Given the description of an element on the screen output the (x, y) to click on. 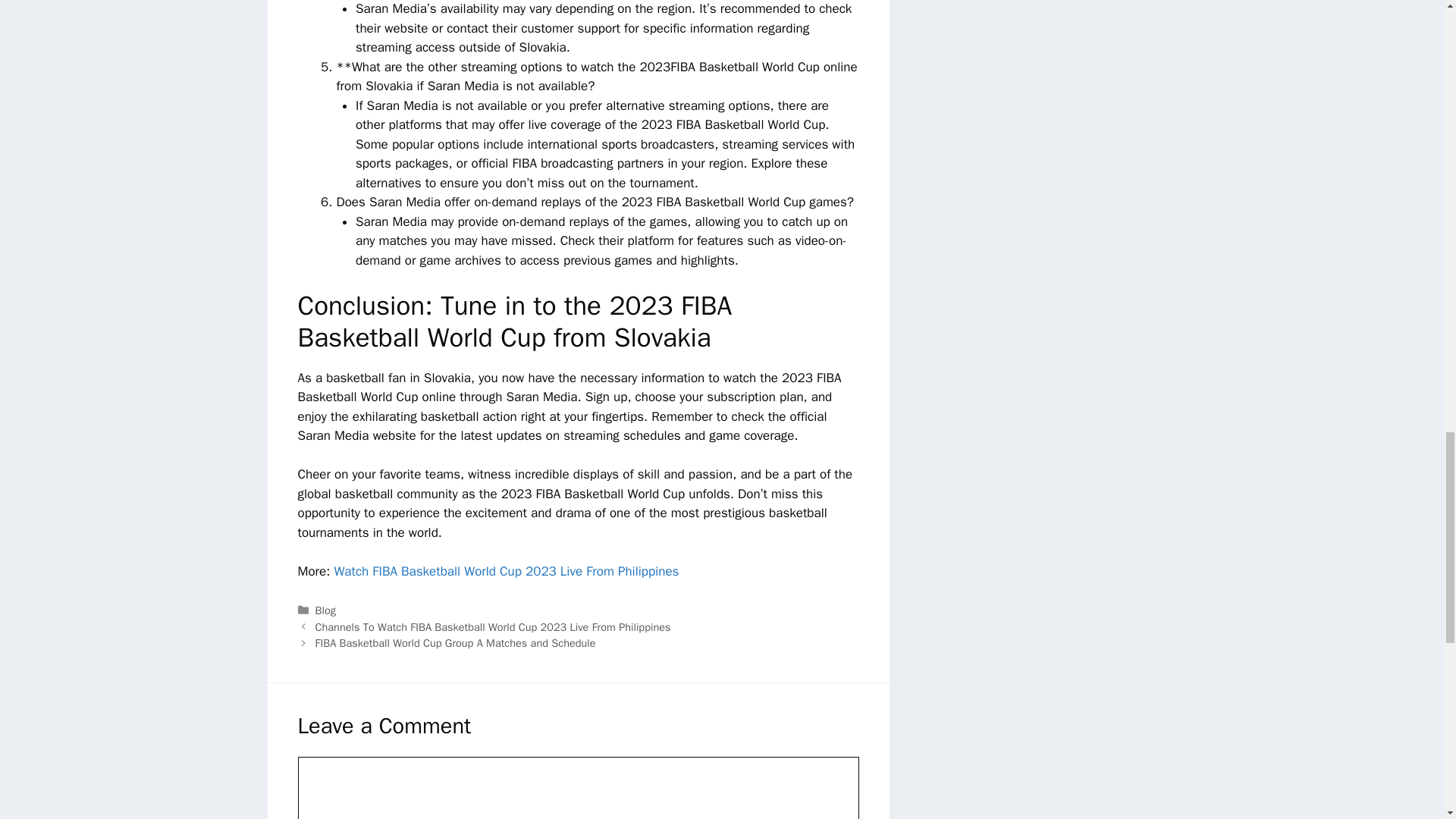
Blog (325, 610)
Watch FIBA Basketball World Cup 2023 Live From Philippines (505, 571)
FIBA Basketball World Cup Group A Matches and Schedule (455, 643)
